Given the description of an element on the screen output the (x, y) to click on. 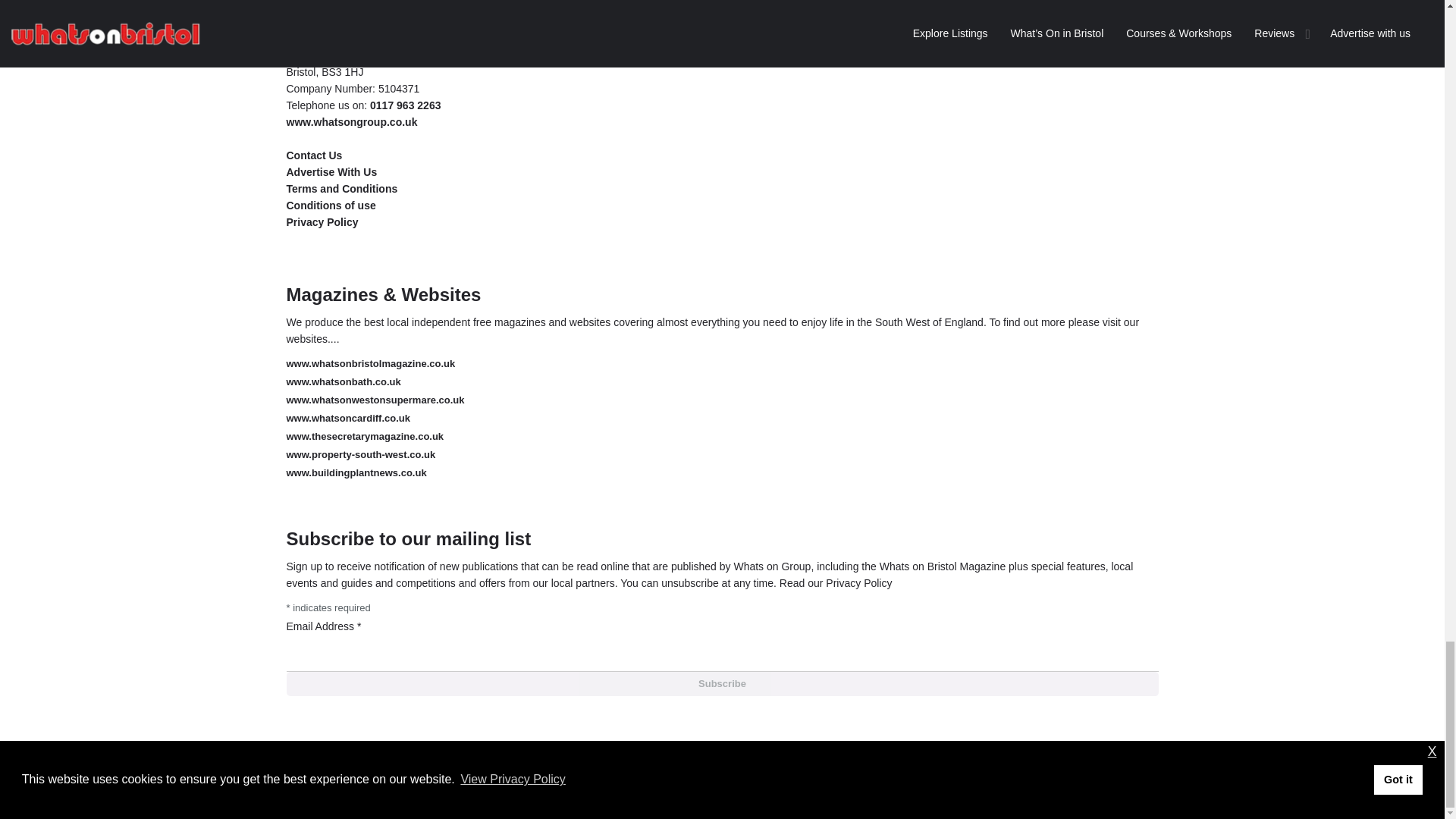
Contact Us (314, 155)
www.whatsonwestonsupermare.co.uk (375, 399)
Conditions of use (330, 205)
www.thesecretarymagazine.co.uk (365, 436)
Advertise With Us (331, 172)
www.whatsonbristolmagazine.co.uk (370, 363)
Privacy Policy (858, 582)
www.buildingplantnews.co.uk (356, 472)
www.whatsoncardiff.co.uk (348, 418)
Terms and Conditions (341, 188)
Subscribe (722, 683)
Privacy Policy (322, 222)
Subscribe (722, 683)
www.property-south-west.co.uk (360, 454)
www.whatsongroup.co.uk (351, 121)
